Given the description of an element on the screen output the (x, y) to click on. 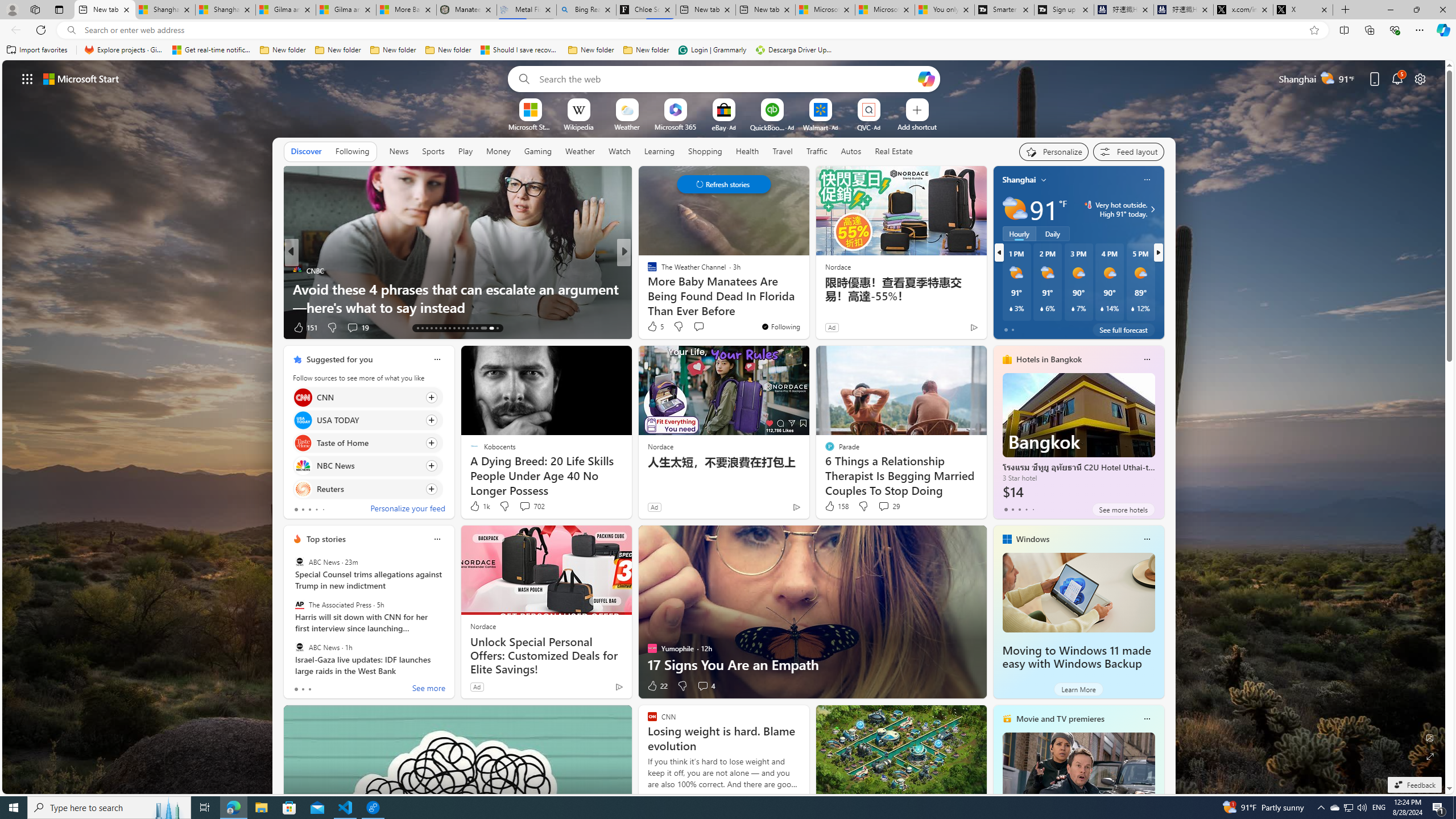
Taste of Home (302, 443)
22 Like (657, 685)
ABC News (299, 646)
CNBC (296, 270)
Notifications (1397, 78)
AutomationID: tab-19 (444, 328)
